Given the description of an element on the screen output the (x, y) to click on. 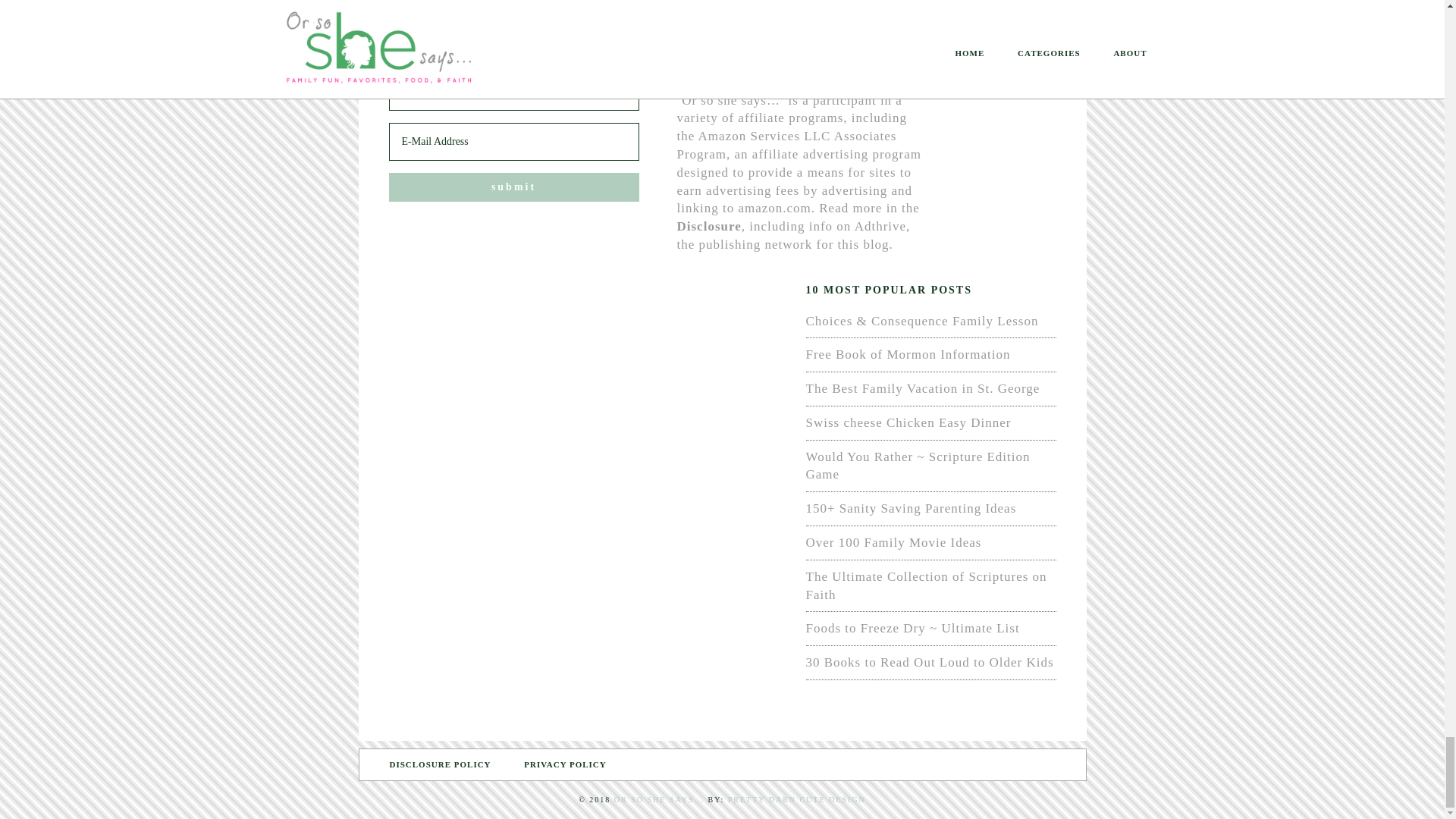
Submit (513, 186)
